Given the description of an element on the screen output the (x, y) to click on. 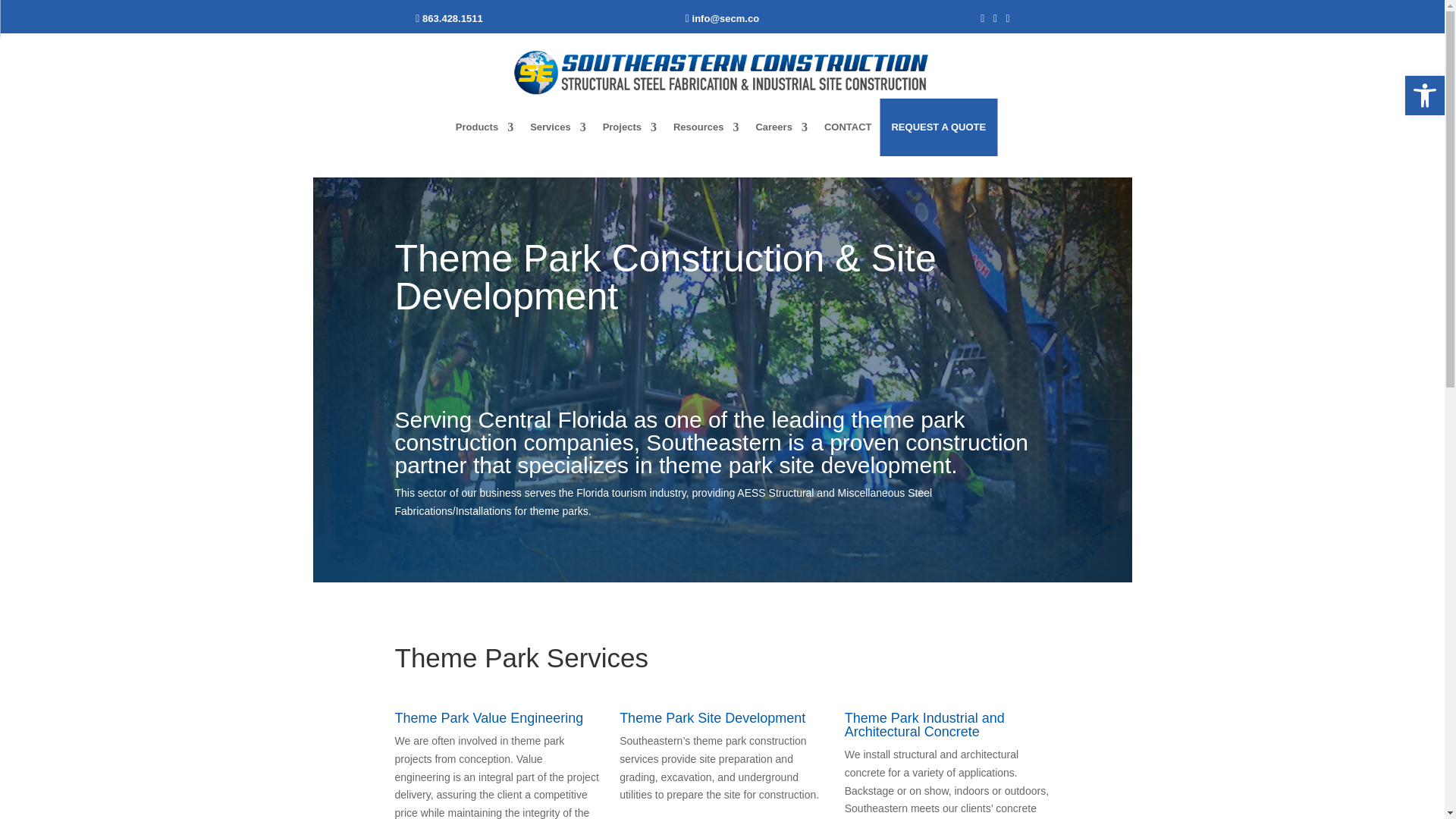
Products (484, 127)
Projects (629, 127)
Services (557, 127)
Resources (705, 127)
Accessibility Tools (1424, 95)
